Given the description of an element on the screen output the (x, y) to click on. 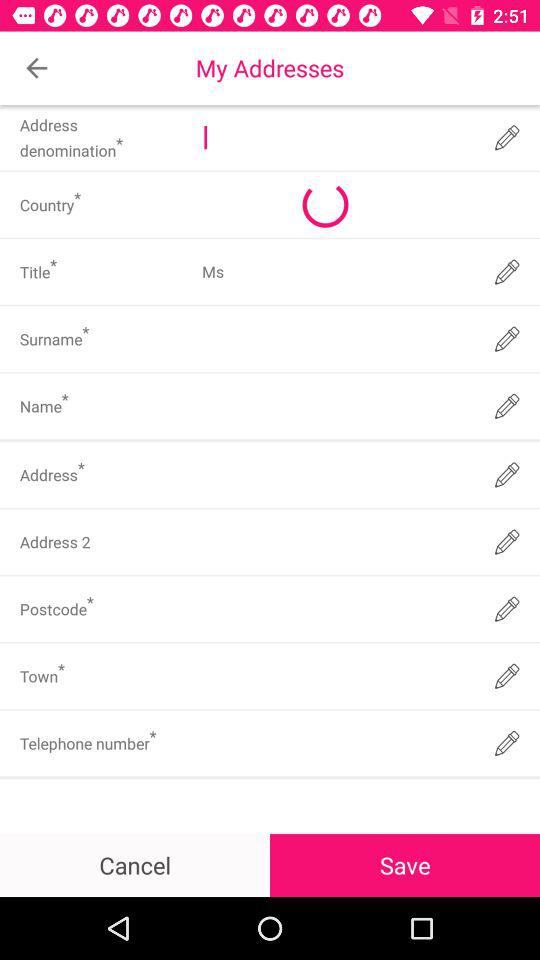
enter text (335, 676)
